Given the description of an element on the screen output the (x, y) to click on. 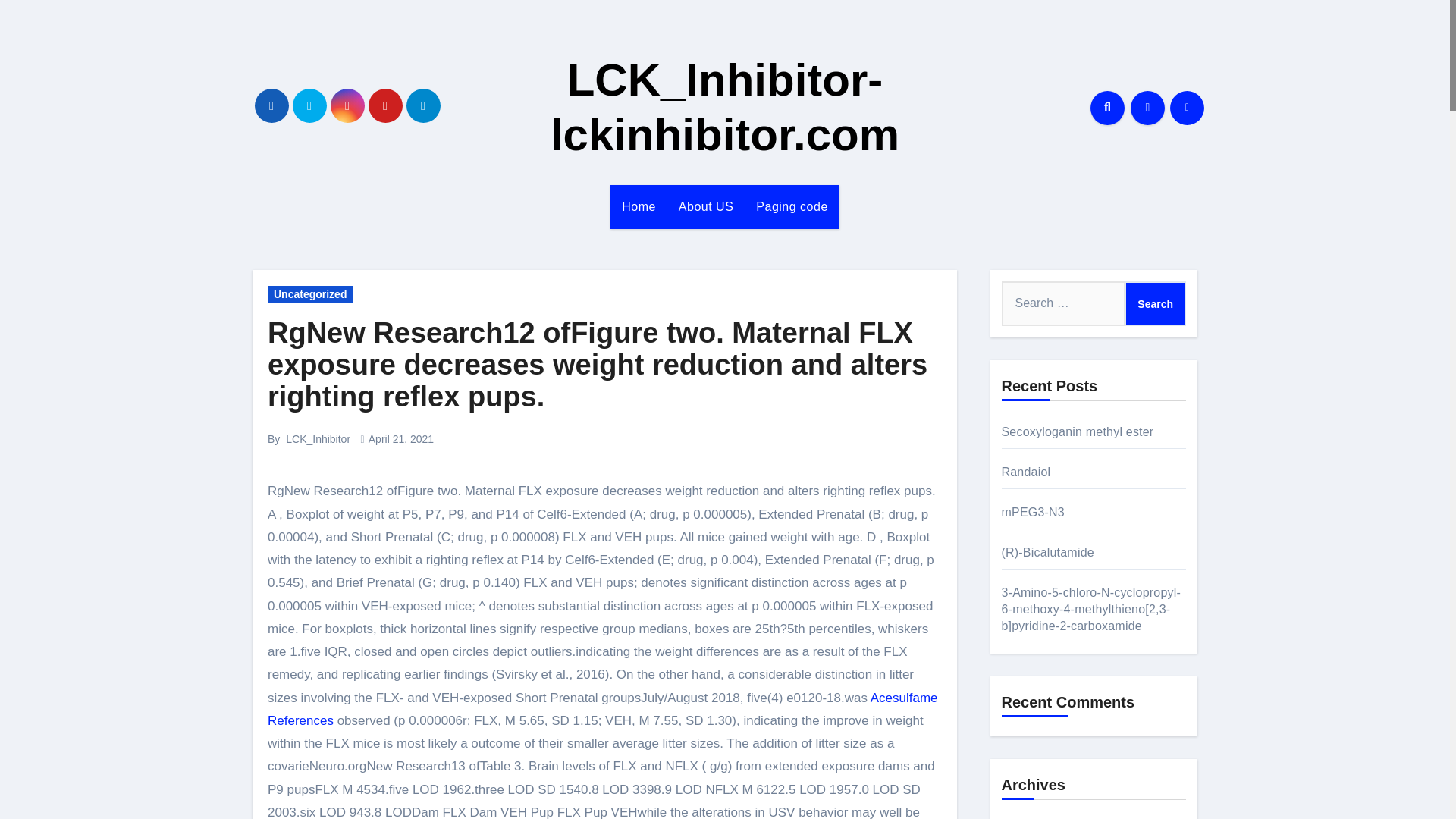
Acesulfame References (602, 709)
Search (1155, 303)
About US (705, 207)
Paging code (791, 207)
Home (638, 207)
April 21, 2021 (400, 439)
Uncategorized (309, 293)
Home (638, 207)
